Given the description of an element on the screen output the (x, y) to click on. 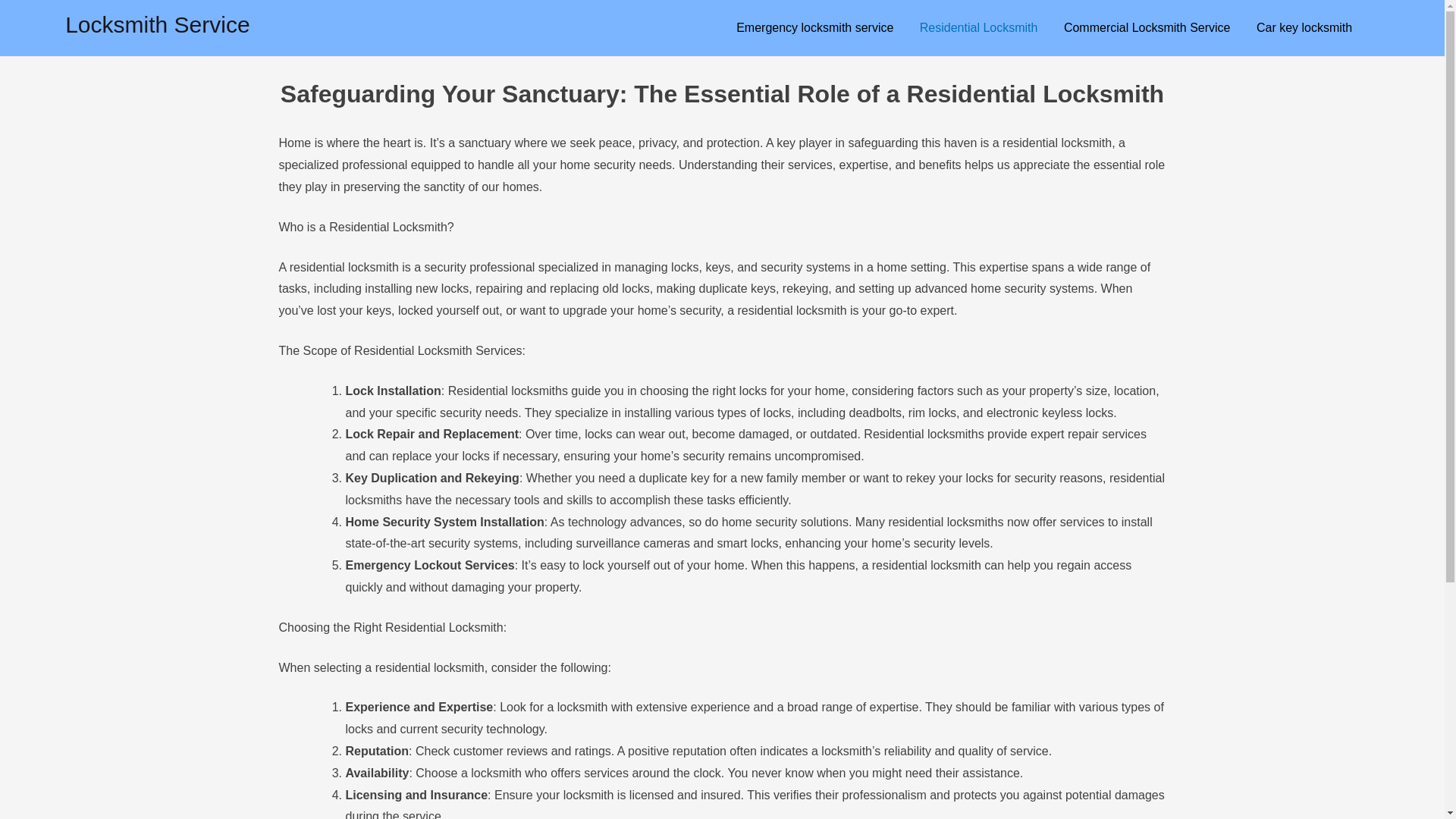
Car key locksmith Element type: text (1304, 27)
Residential Locksmith Element type: text (978, 27)
Locksmith Service Element type: text (157, 24)
Emergency locksmith service Element type: text (814, 27)
Commercial Locksmith Service Element type: text (1147, 27)
